Given the description of an element on the screen output the (x, y) to click on. 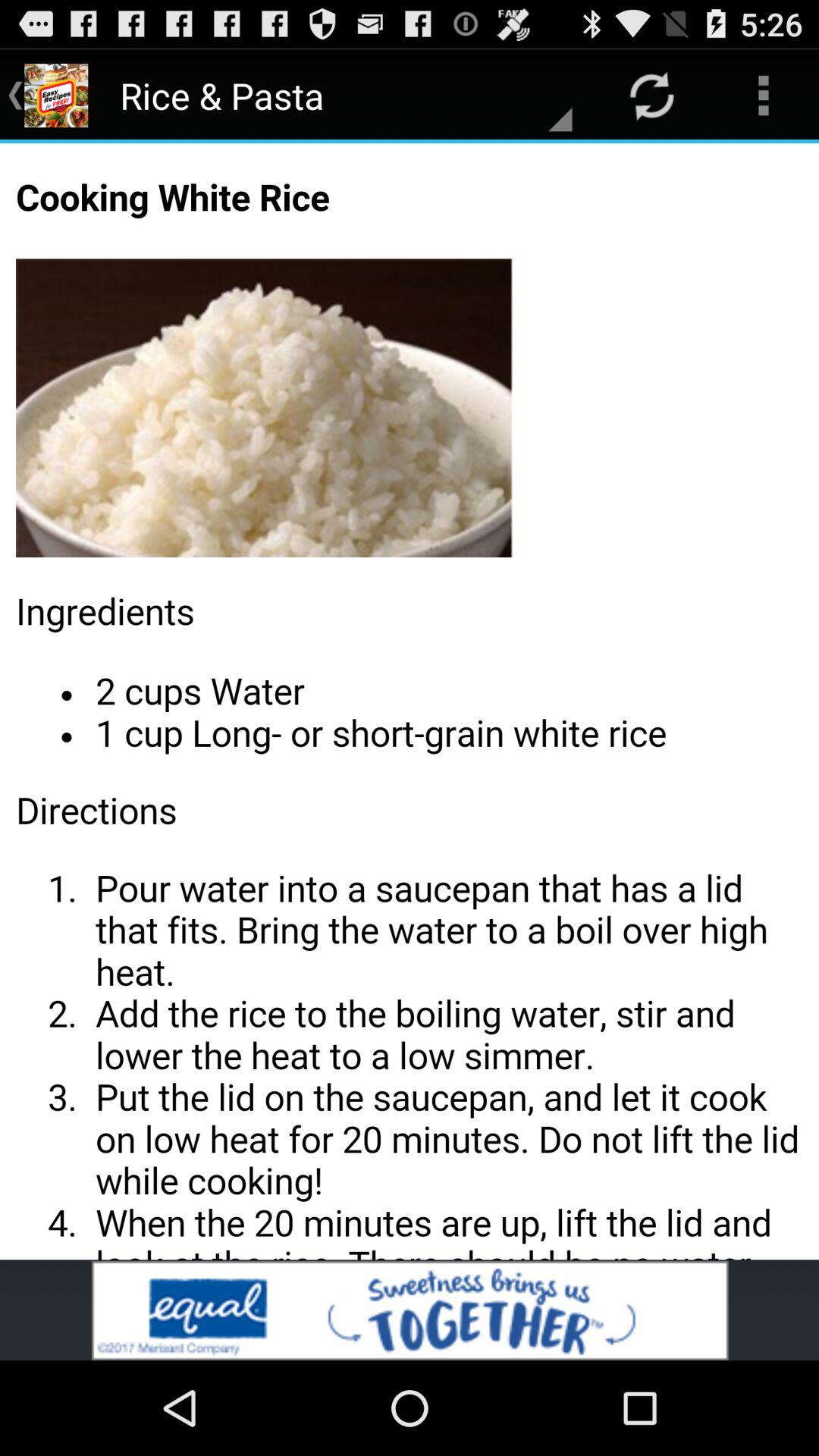
recipe box (409, 701)
